Given the description of an element on the screen output the (x, y) to click on. 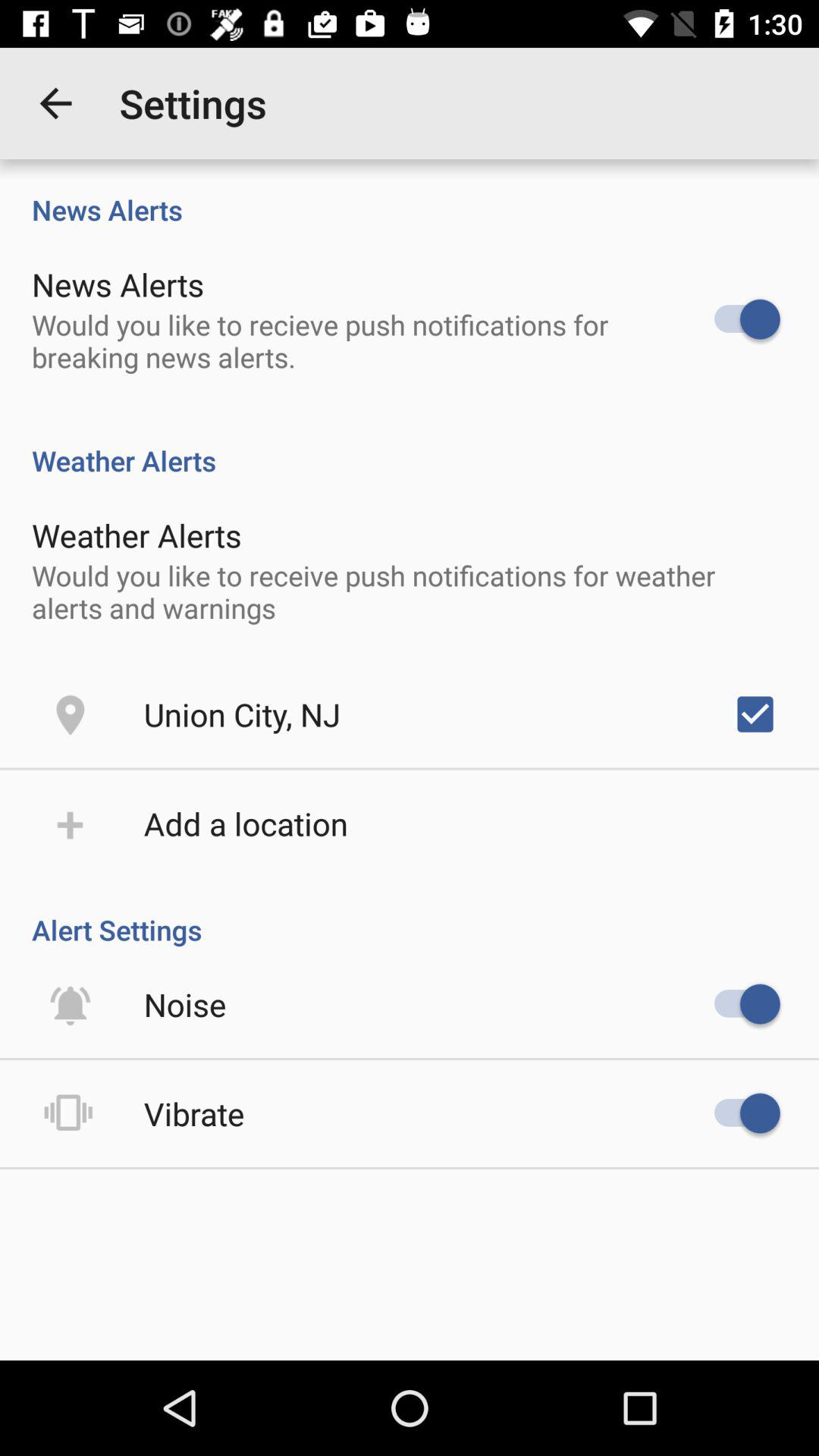
open the alert settings icon (409, 913)
